Given the description of an element on the screen output the (x, y) to click on. 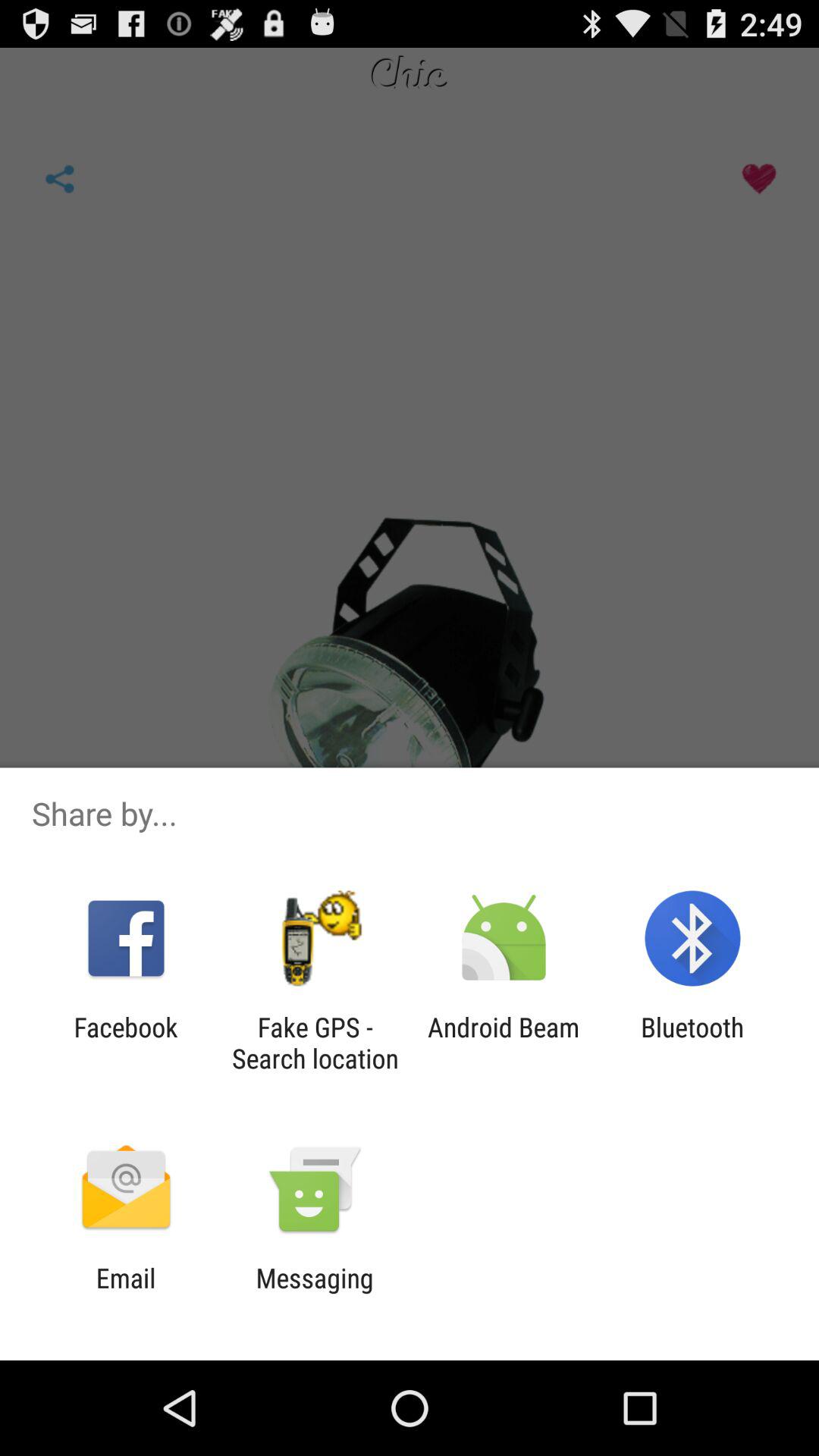
swipe to bluetooth app (691, 1042)
